Given the description of an element on the screen output the (x, y) to click on. 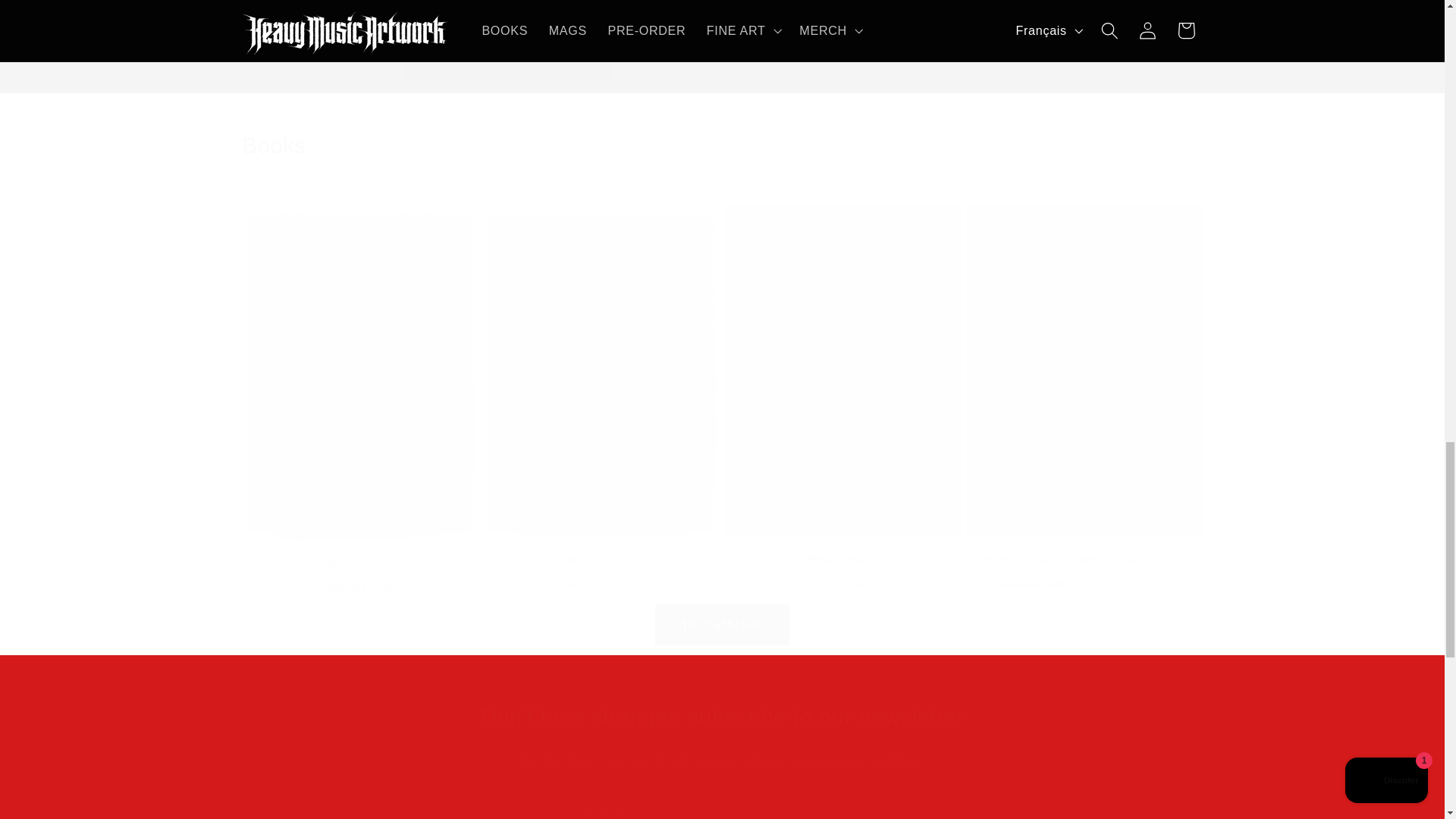
E-mail (722, 804)
Publier le commentaire (508, 58)
Books (722, 145)
Don't be a stranger, subscribe to our newsletter (722, 716)
